Given the description of an element on the screen output the (x, y) to click on. 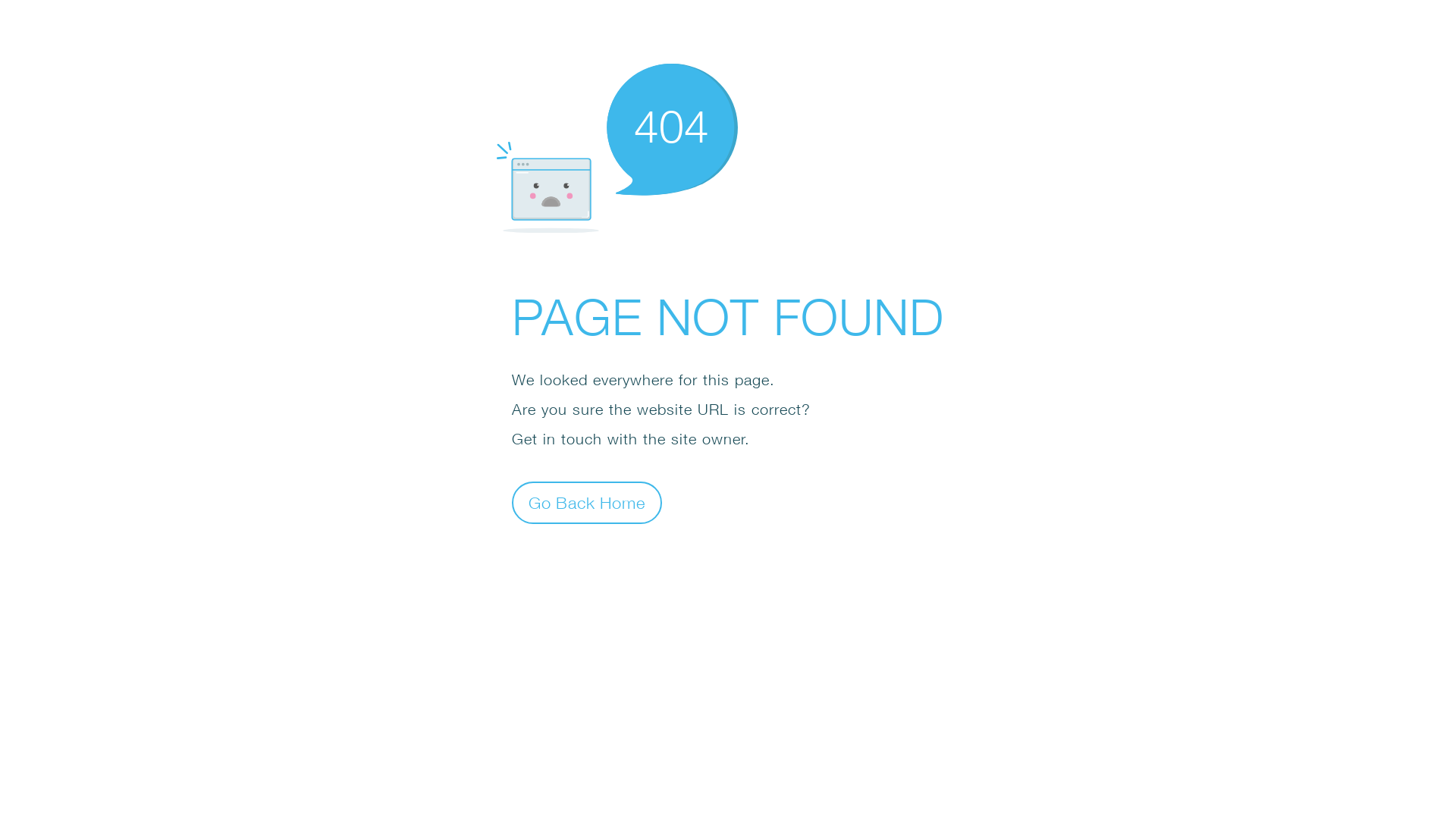
Go Back Home Element type: text (586, 502)
